Given the description of an element on the screen output the (x, y) to click on. 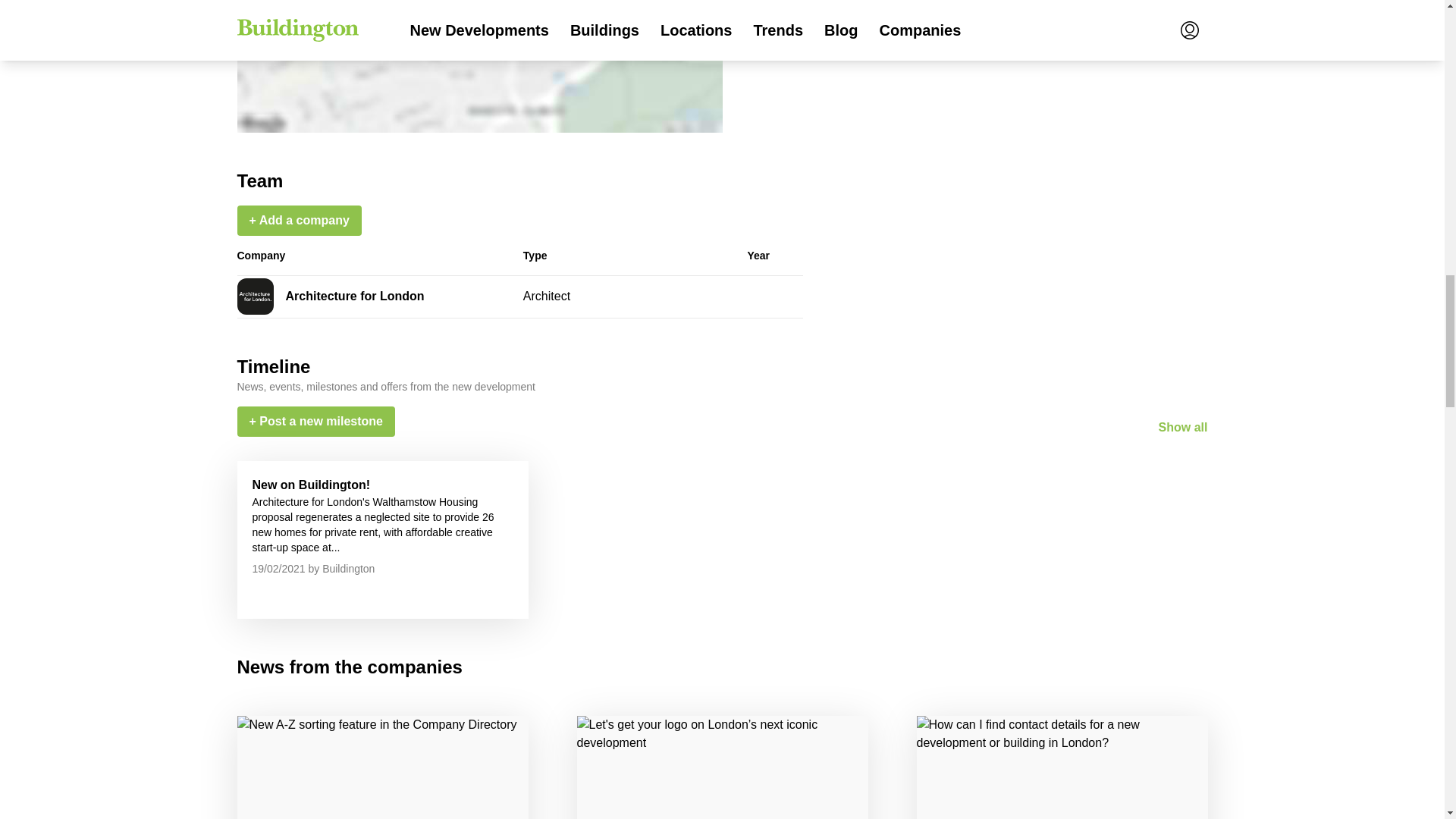
New A-Z sorting feature in the Company Directory (381, 767)
Show all (1183, 427)
Architecture for London (354, 295)
